Given the description of an element on the screen output the (x, y) to click on. 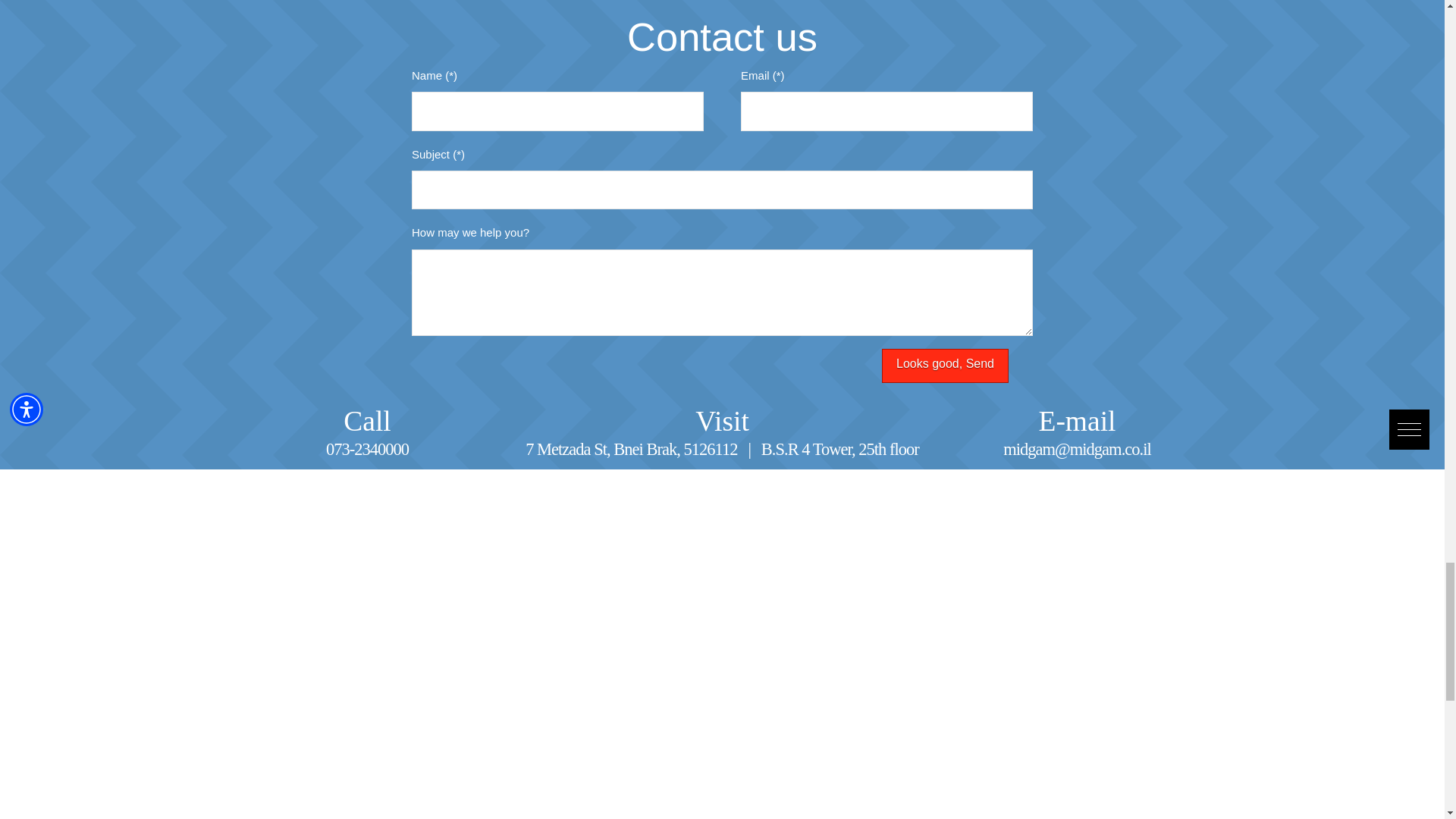
Looks good, Send (945, 365)
073-2340000 (366, 449)
Looks good, Send (945, 365)
